Given the description of an element on the screen output the (x, y) to click on. 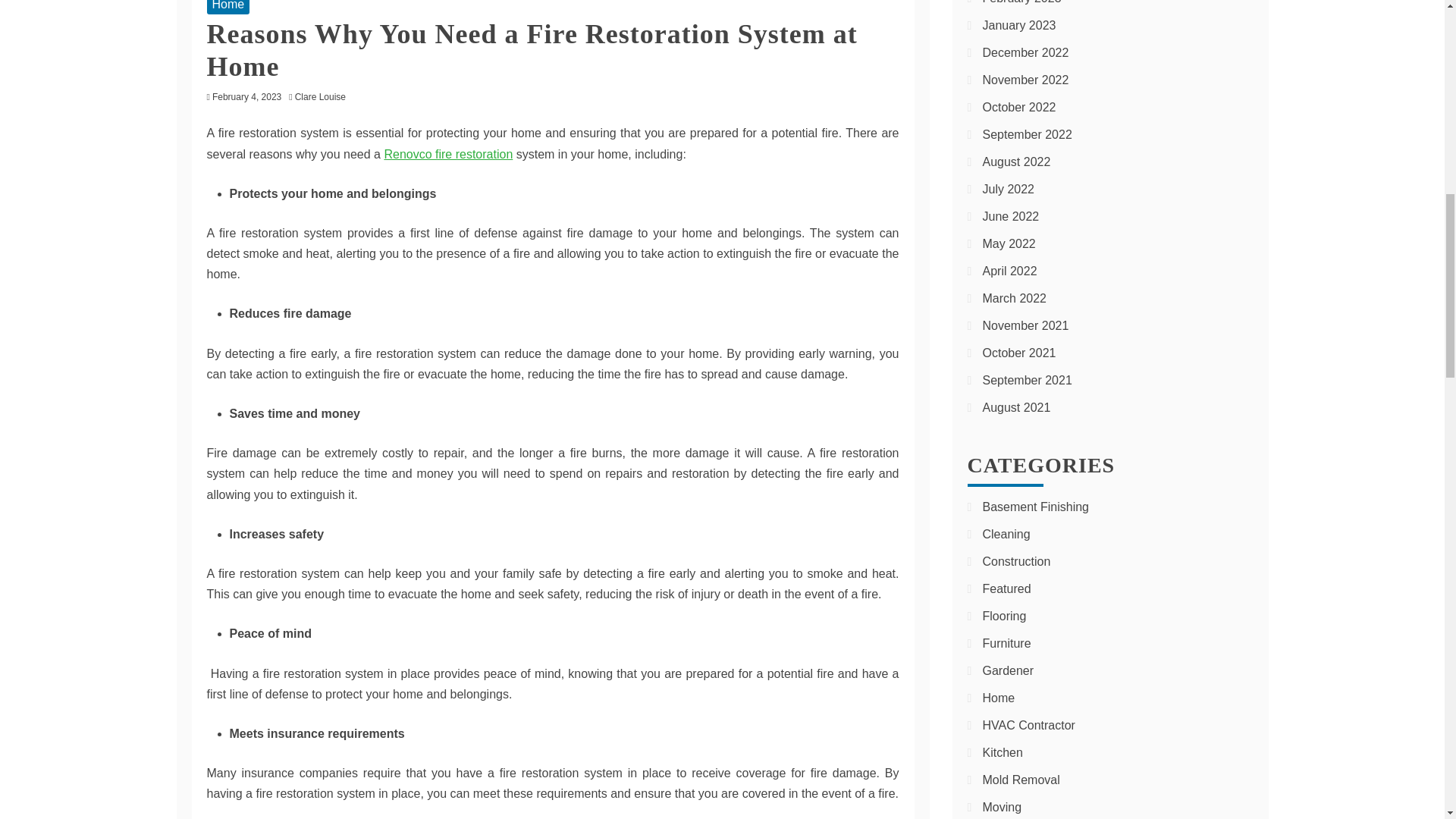
Home (227, 6)
Renovco fire restoration (448, 154)
February 4, 2023 (246, 96)
Clare Louise (324, 96)
